Given the description of an element on the screen output the (x, y) to click on. 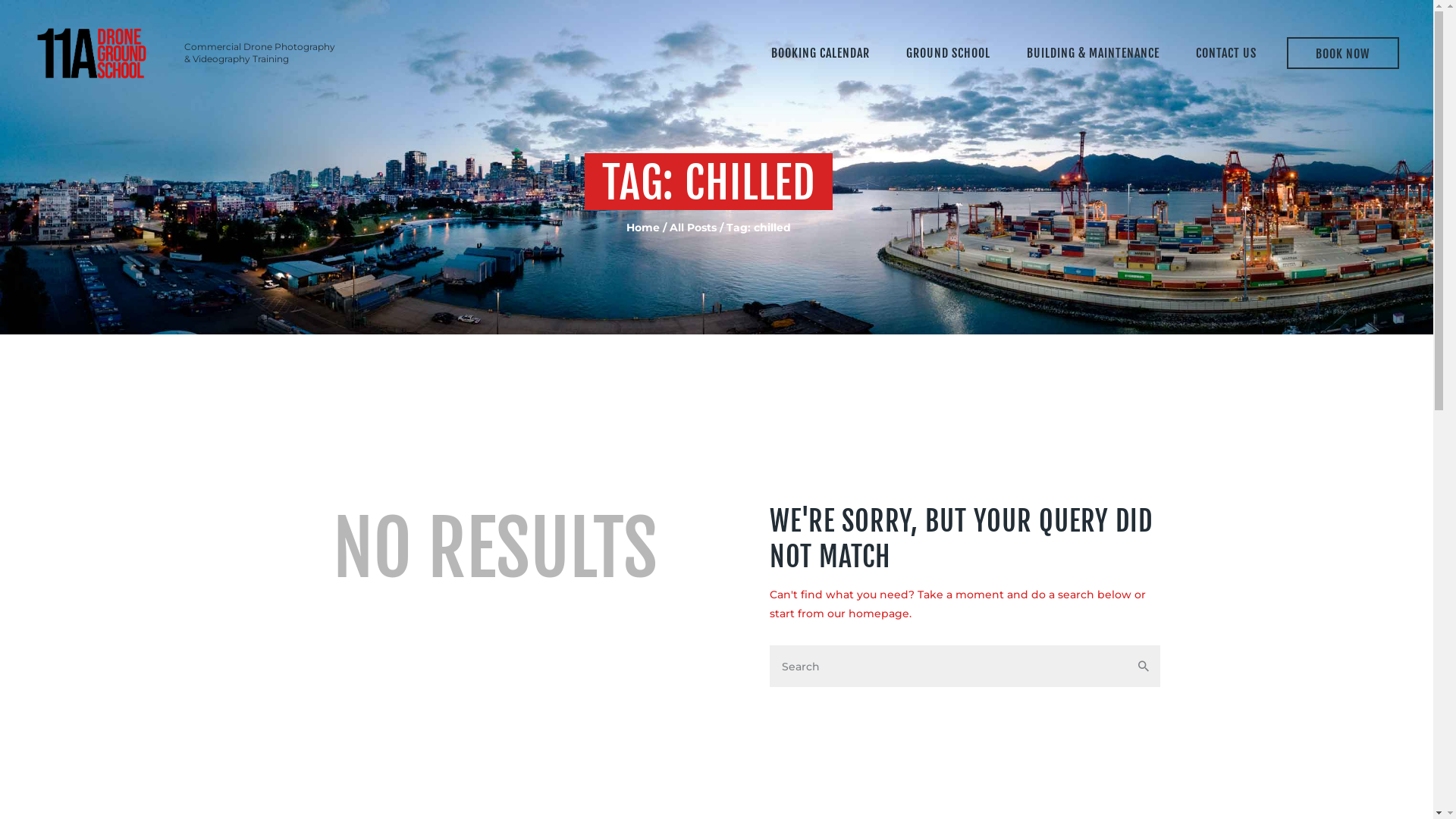
CONTACT US Element type: text (1225, 52)
our homepage Element type: text (868, 613)
Home Element type: text (642, 228)
All Posts Element type: text (692, 227)
BUILDING & MAINTENANCE Element type: text (1092, 52)
BOOK NOW Element type: text (1342, 53)
GROUND SCHOOL Element type: text (948, 52)
BOOKING CALENDAR Element type: text (820, 52)
